Given the description of an element on the screen output the (x, y) to click on. 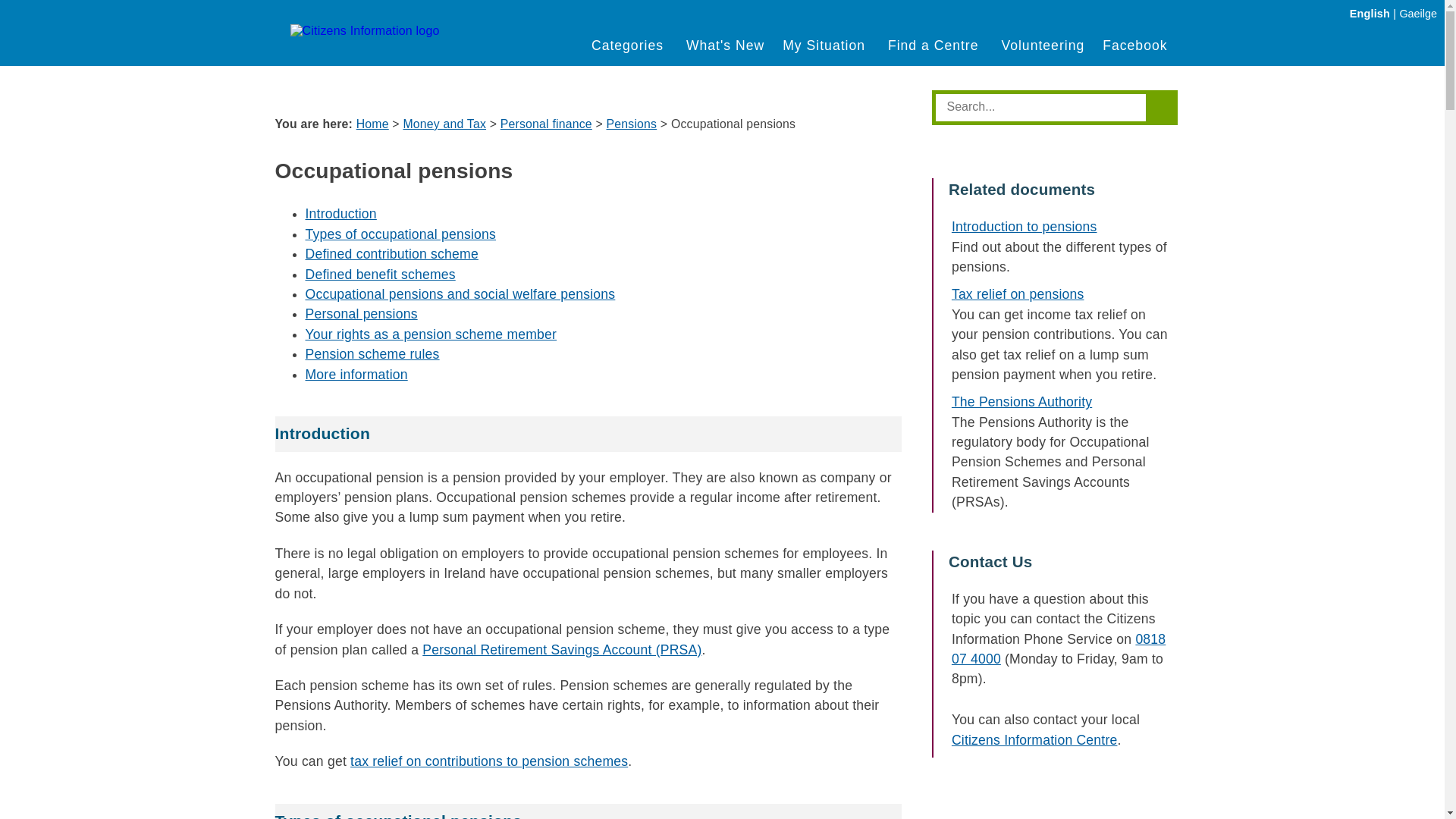
Search (1043, 106)
Categories (629, 45)
What's New (725, 45)
My Situation (826, 45)
Gaeilge (1418, 13)
